Given the description of an element on the screen output the (x, y) to click on. 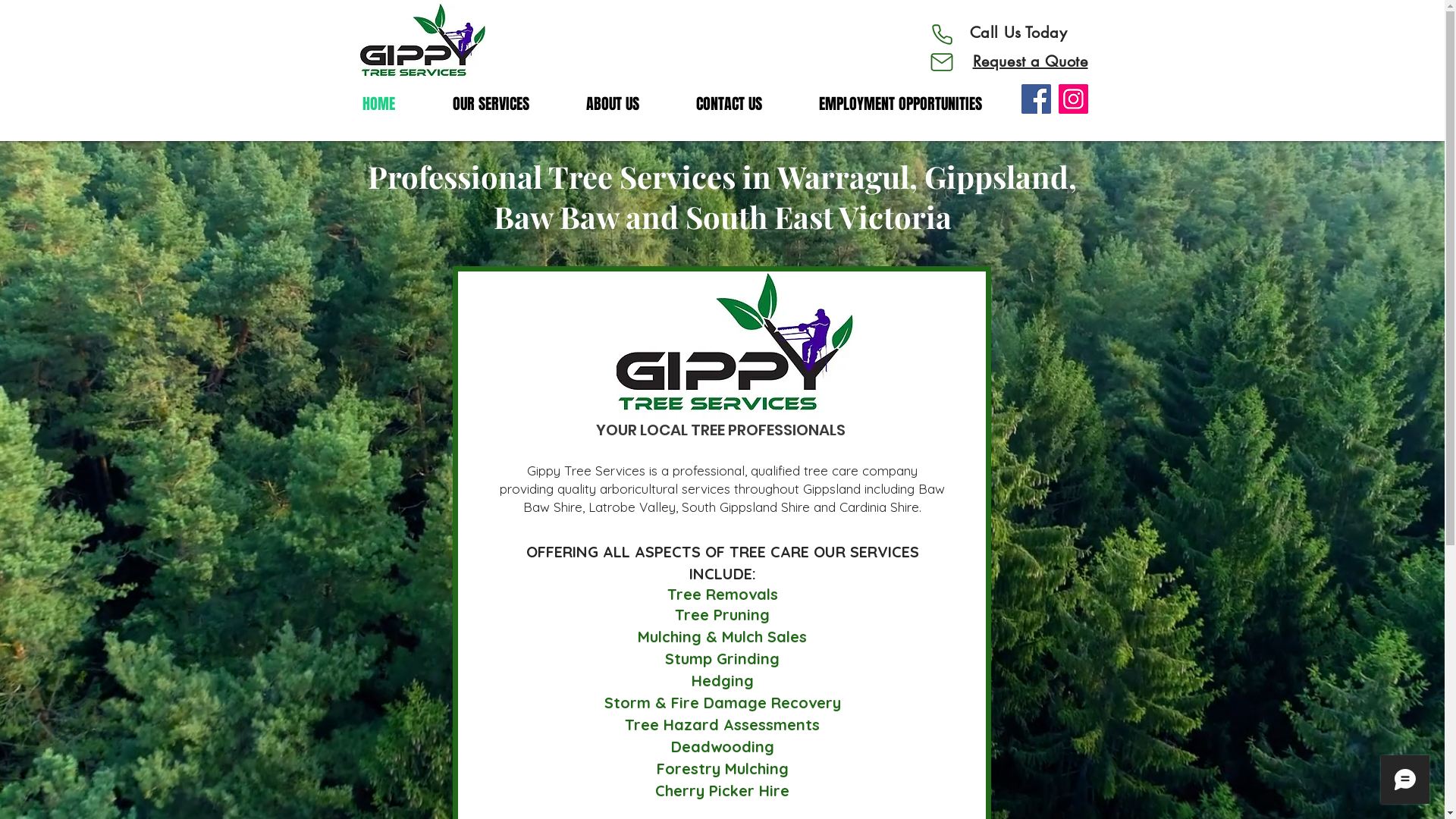
Gippy Tree Services Logo small.jpg Element type: hover (734, 345)
HOME Element type: text (395, 103)
EMPLOYMENT OPPORTUNITIES Element type: text (916, 103)
Deadwooding Element type: text (721, 745)
Tree Removals Element type: text (722, 594)
Tree Pruning Element type: text (721, 613)
OUR SERVICES Element type: text (507, 103)
ABOUT US Element type: text (629, 103)
Tree Hazard Assessments Element type: text (721, 723)
Mulching & Mulch Sales Element type: text (721, 635)
Stump Grinding Element type: text (722, 657)
Forestry Mulching Element type: text (722, 767)
Storm & Fire Damage Recovery Element type: text (721, 701)
Request a Quote Element type: text (1029, 61)
Hedging Element type: text (722, 679)
Gippy Tree Services Logo small.jpg Element type: hover (422, 41)
CONTACT US Element type: text (745, 103)
Call Us Today Element type: text (1018, 32)
